Given the description of an element on the screen output the (x, y) to click on. 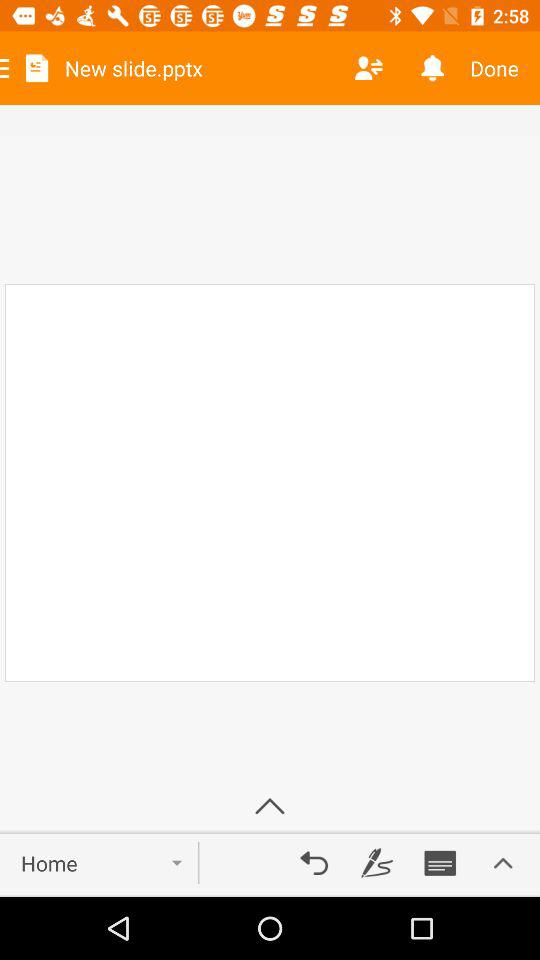
press item to the right of the new slide.pptx item (368, 68)
